Given the description of an element on the screen output the (x, y) to click on. 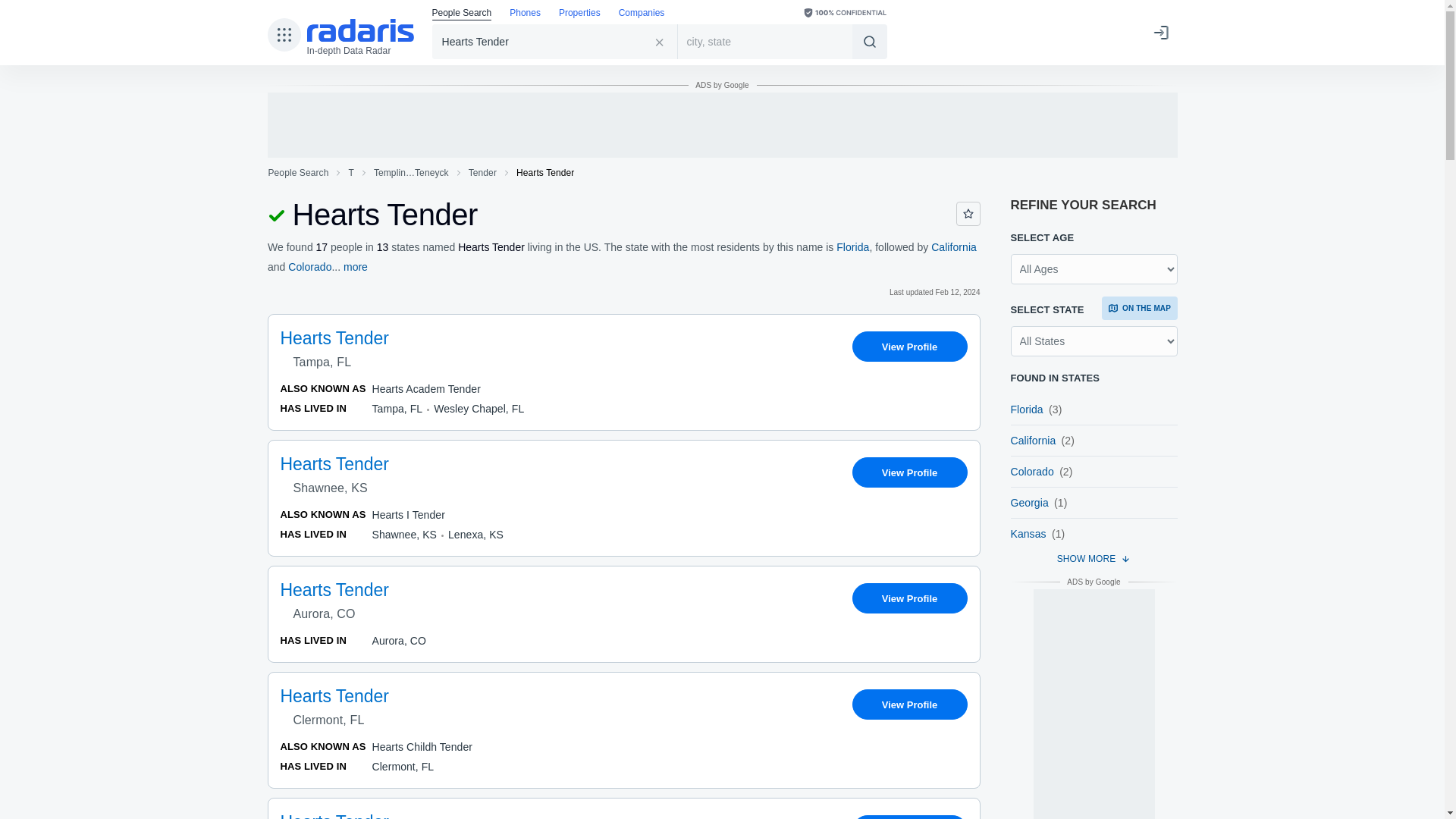
Hearts Tender (555, 41)
Properties (579, 13)
Tender (482, 172)
T (349, 172)
People Search (297, 172)
Companies (641, 13)
Phones (524, 13)
People Search (462, 13)
